Given the description of an element on the screen output the (x, y) to click on. 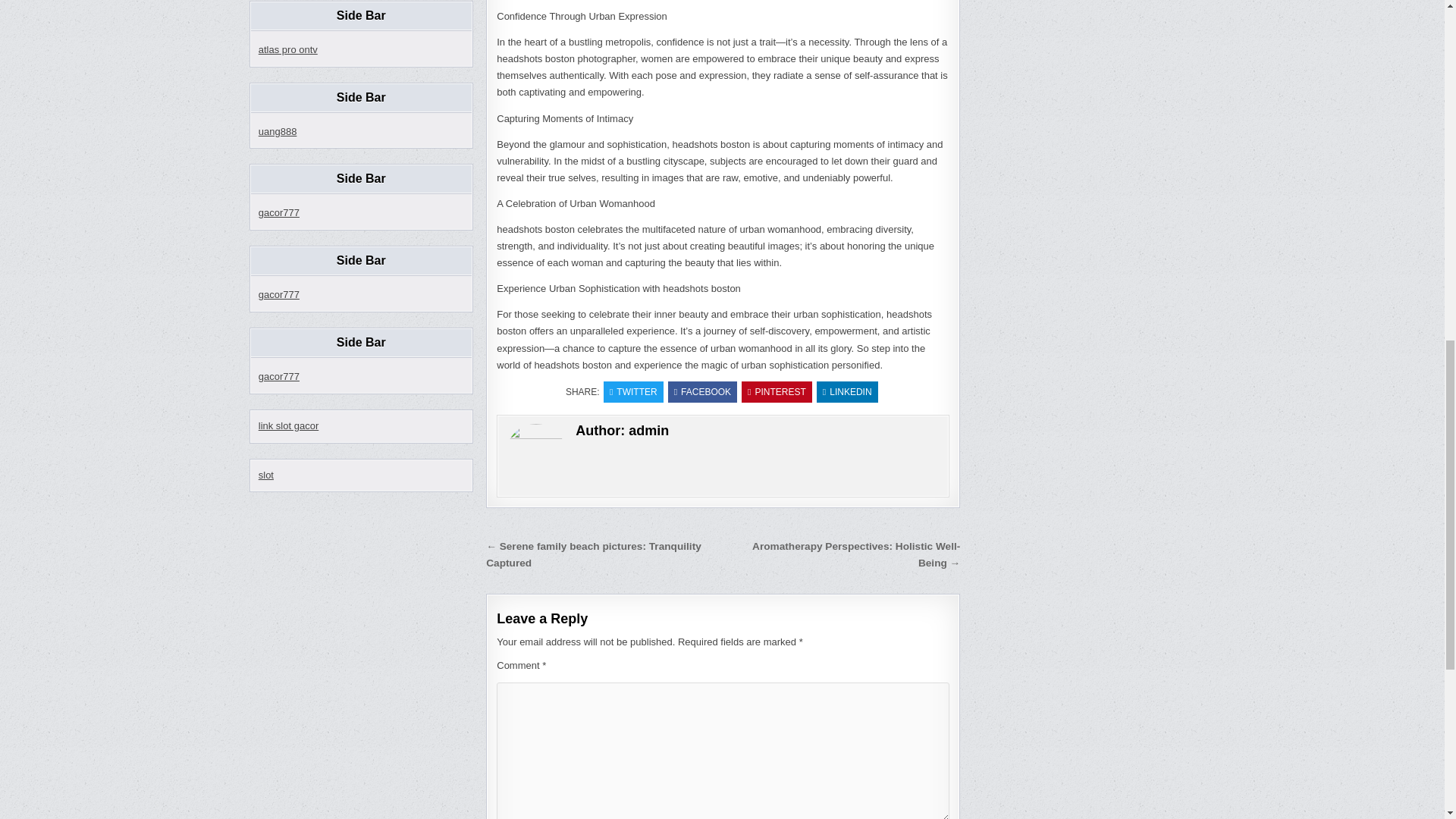
Share this on Facebook (702, 391)
Share this on Linkedin (846, 391)
atlas pro ontv (288, 49)
Tweet This! (633, 391)
gacor777 (279, 294)
gacor777 (279, 376)
slot (266, 473)
Share this on Pinterest (776, 391)
uang888 (278, 131)
link slot gacor (288, 425)
gacor777 (279, 212)
